Given the description of an element on the screen output the (x, y) to click on. 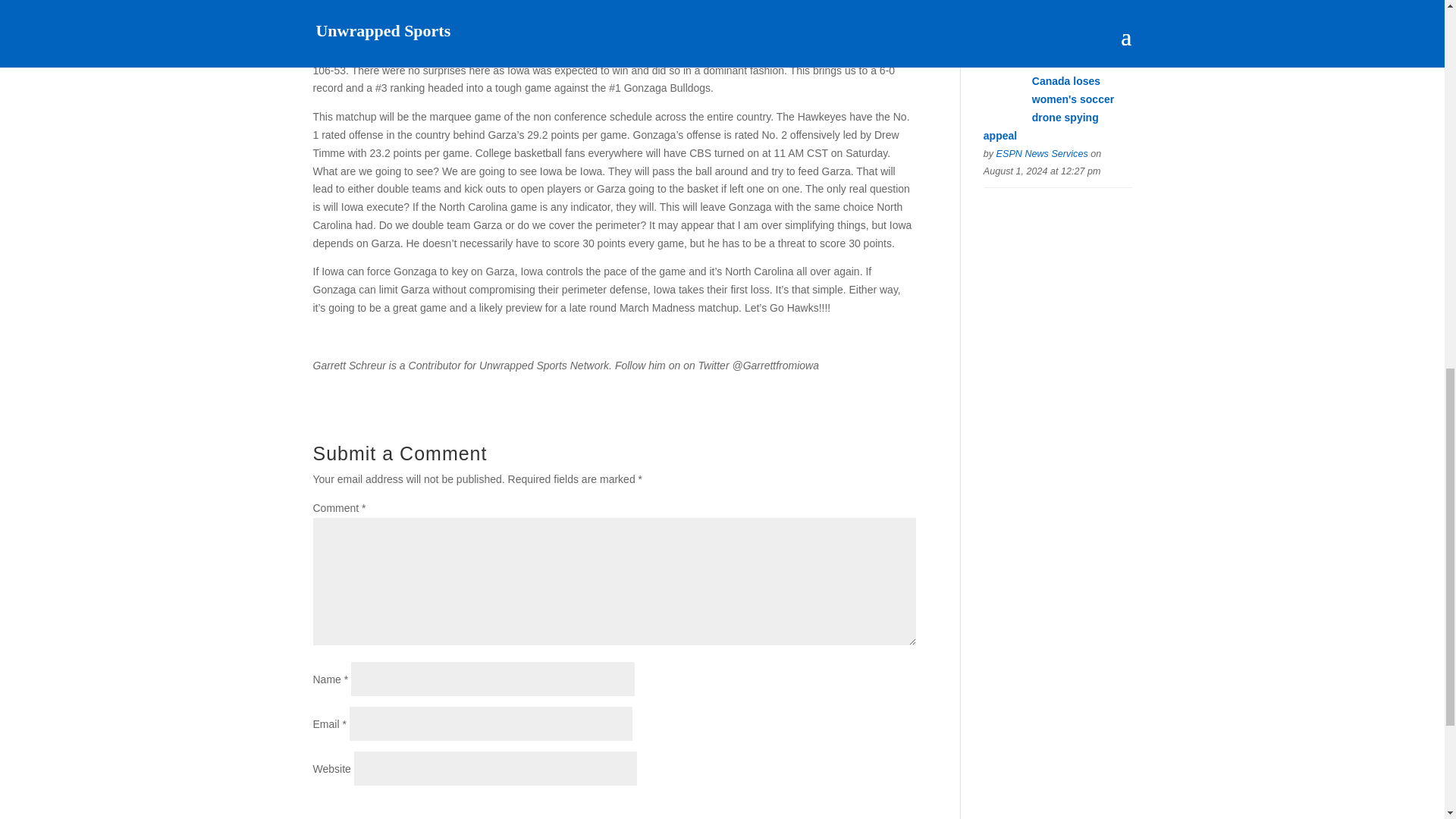
Submit Comment (840, 807)
ESPN News Services (1041, 153)
Source: Man United concerned by Yoro injury (1081, 8)
Canada loses women's soccer drone spying appeal (1048, 107)
Submit Comment (840, 807)
Rob Dawson (1023, 28)
